Given the description of an element on the screen output the (x, y) to click on. 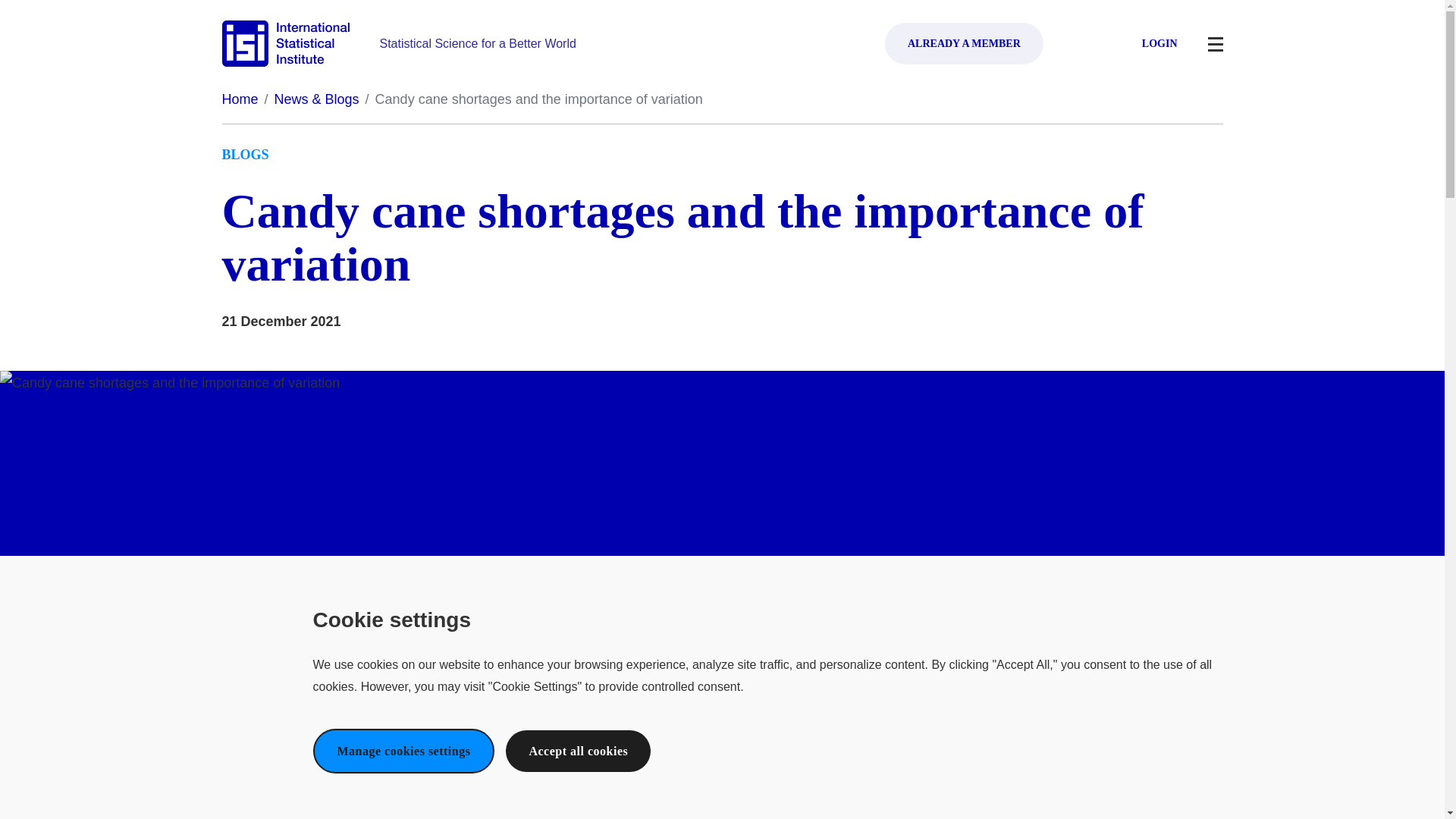
ALREADY A MEMBER (964, 43)
Opens in a new window (964, 43)
Opens in a new window (1148, 43)
LOGIN (1148, 43)
